Given the description of an element on the screen output the (x, y) to click on. 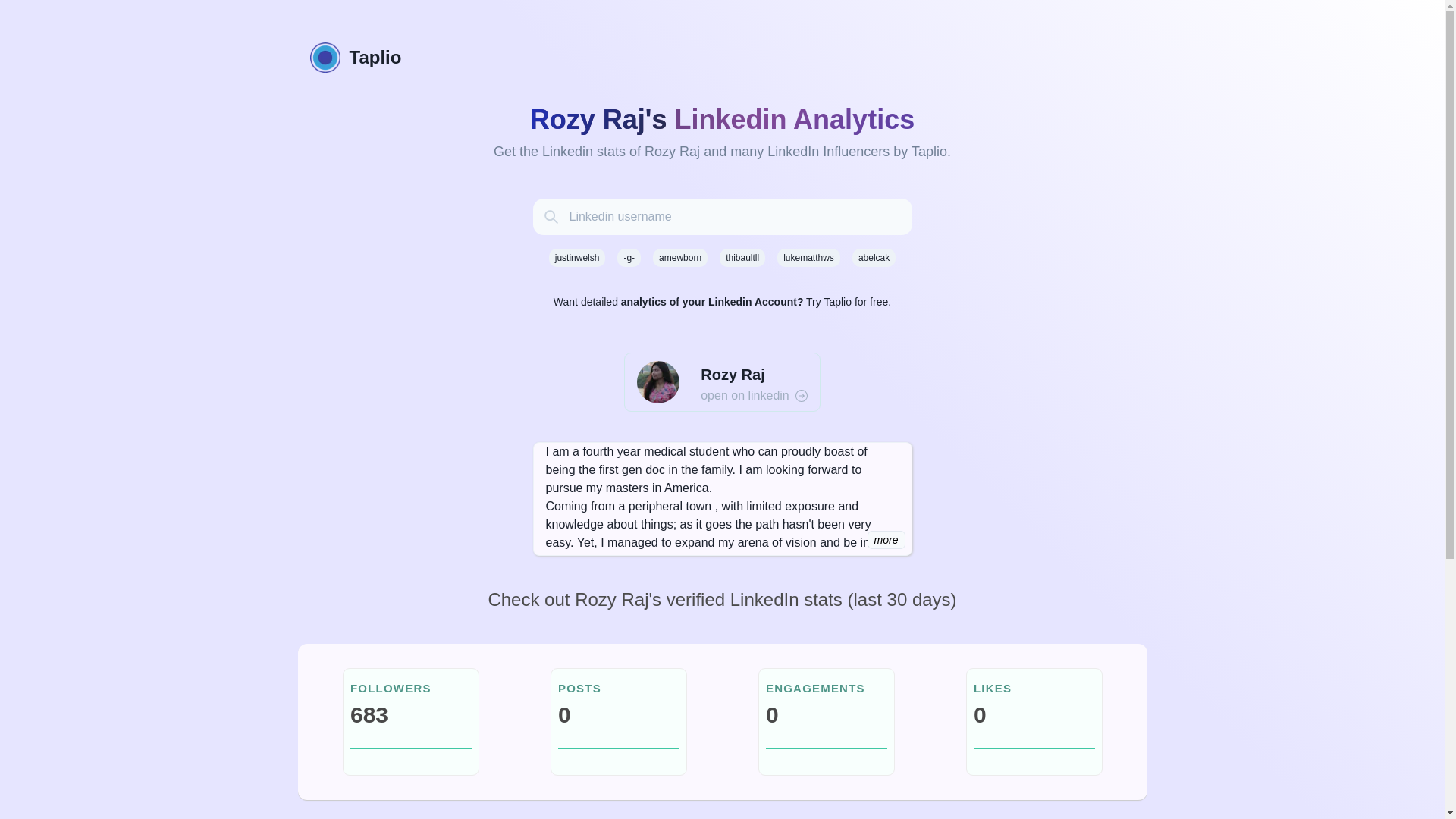
-g- (628, 257)
more (886, 539)
Taplio (721, 57)
open on linkedin (754, 395)
abelcak (873, 257)
thibaultll (742, 257)
LinkedIn Influencers (828, 151)
lukematthws (808, 257)
justinwelsh (576, 257)
amewborn (679, 257)
